Given the description of an element on the screen output the (x, y) to click on. 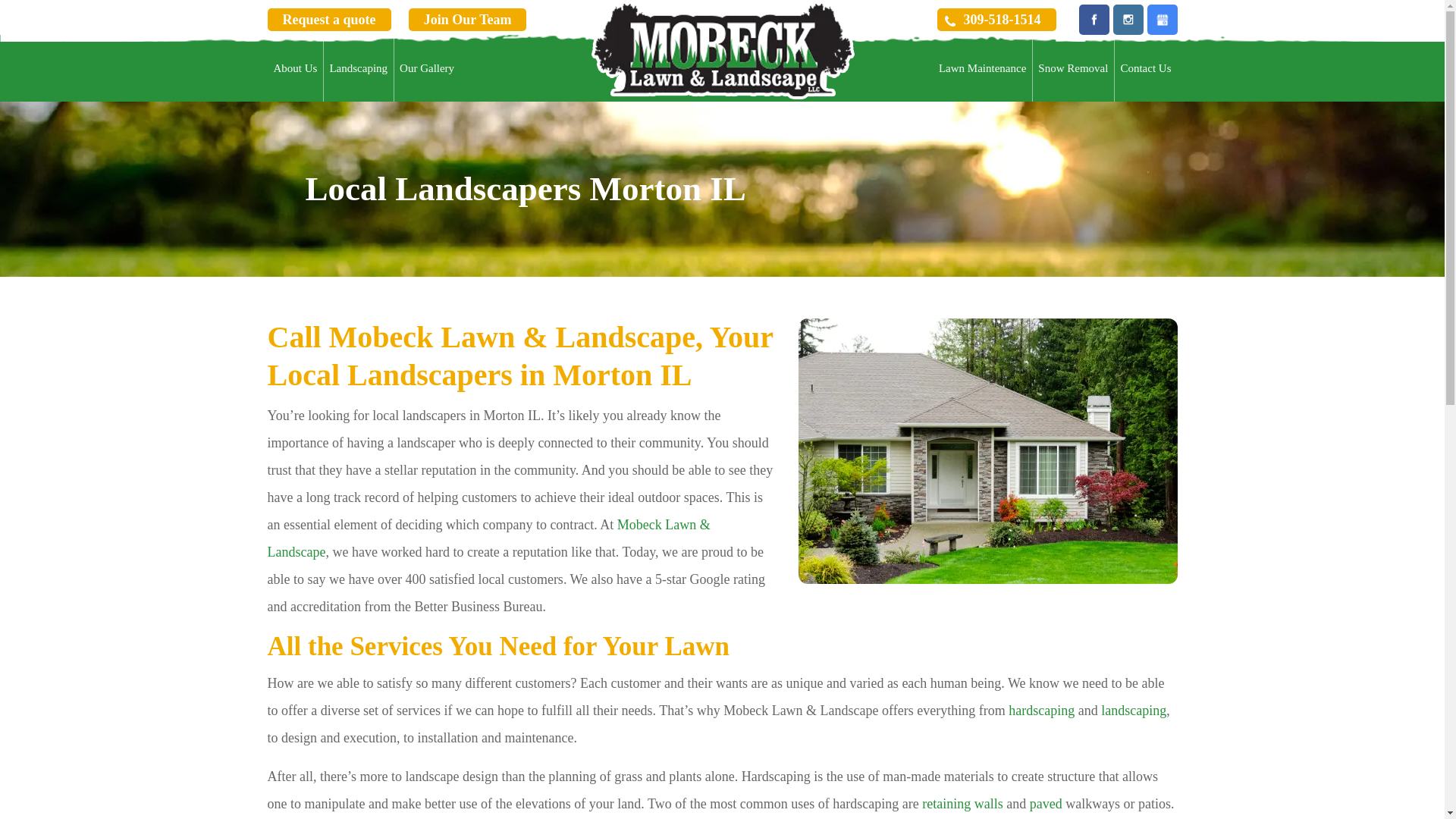
Request a quote (328, 19)
Lawn Maintenance (982, 68)
paved (1045, 803)
Contact Us (1144, 68)
309-518-1514 (997, 19)
Landscaping (358, 68)
hardscaping (1041, 710)
Join Our Team (468, 19)
instagram (1127, 19)
social (1161, 19)
facebook (1093, 19)
Snow Removal (1073, 68)
About Us (295, 68)
Our Gallery (426, 68)
landscaping (1133, 710)
